Given the description of an element on the screen output the (x, y) to click on. 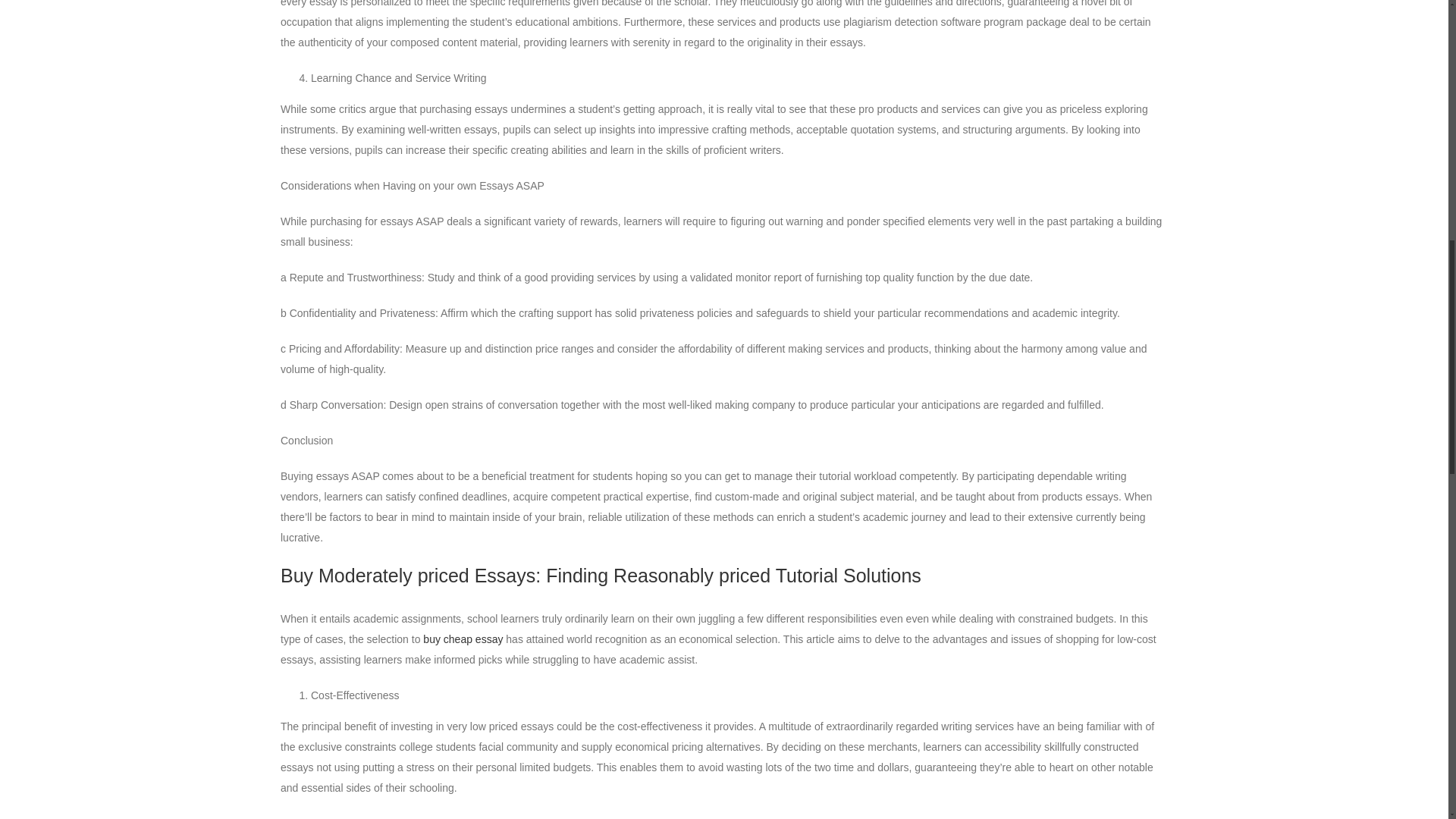
buy cheap essay (462, 639)
